Given the description of an element on the screen output the (x, y) to click on. 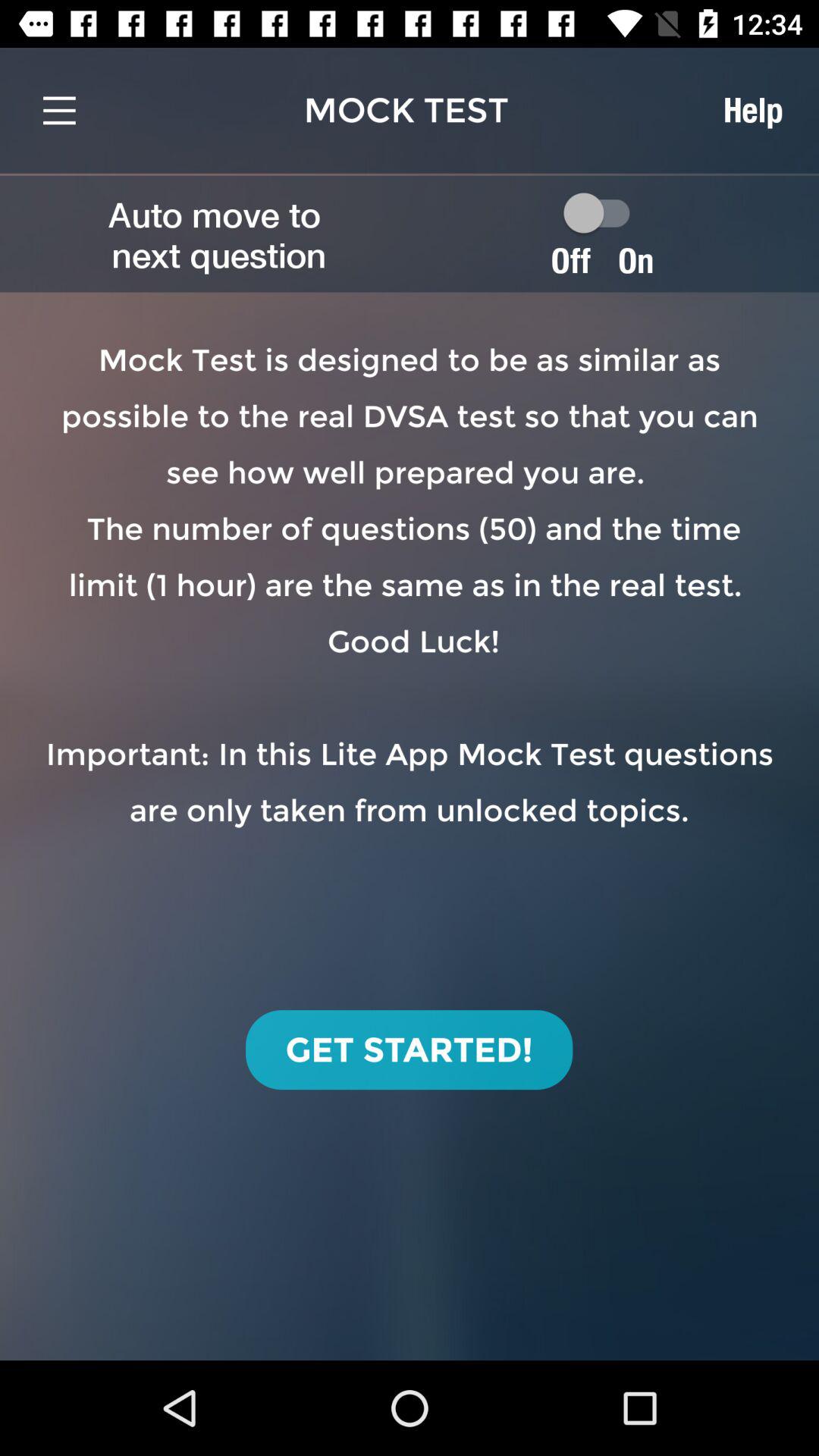
turn off icon below mock test is item (408, 1049)
